Given the description of an element on the screen output the (x, y) to click on. 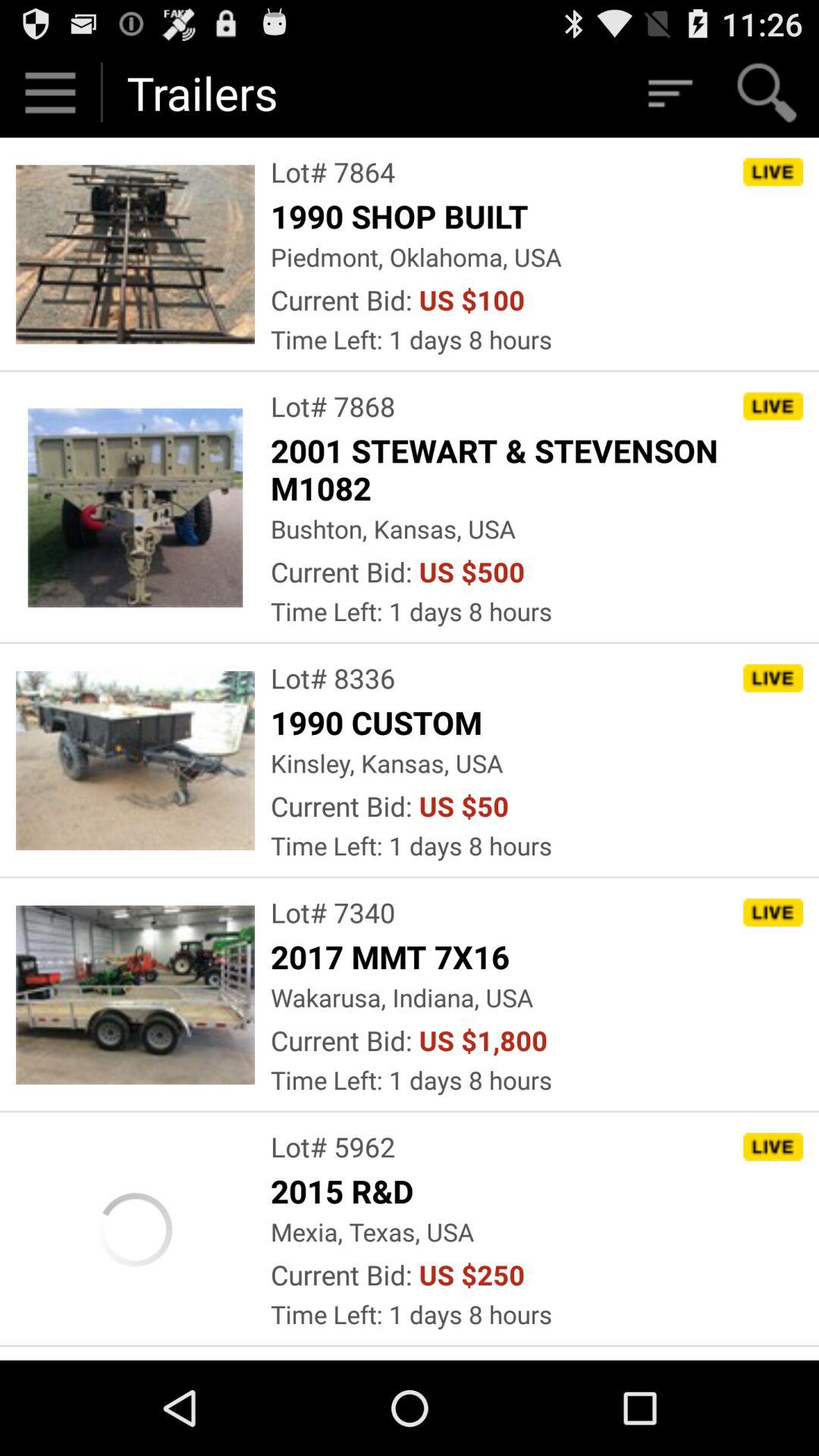
click on start button on top left (50, 92)
